Given the description of an element on the screen output the (x, y) to click on. 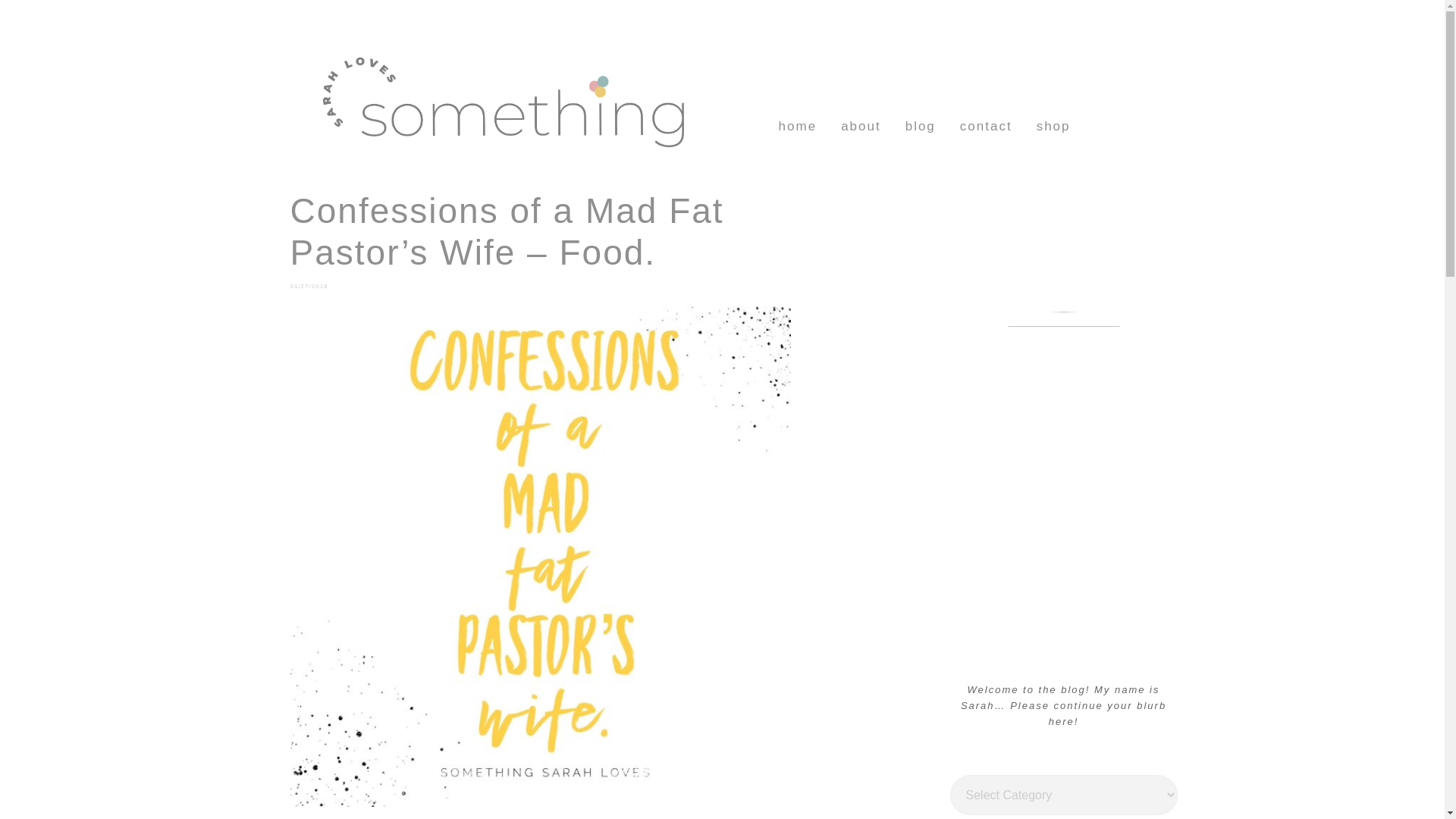
home (798, 125)
contact (986, 125)
blog (920, 125)
shop (1054, 125)
about (860, 125)
